Given the description of an element on the screen output the (x, y) to click on. 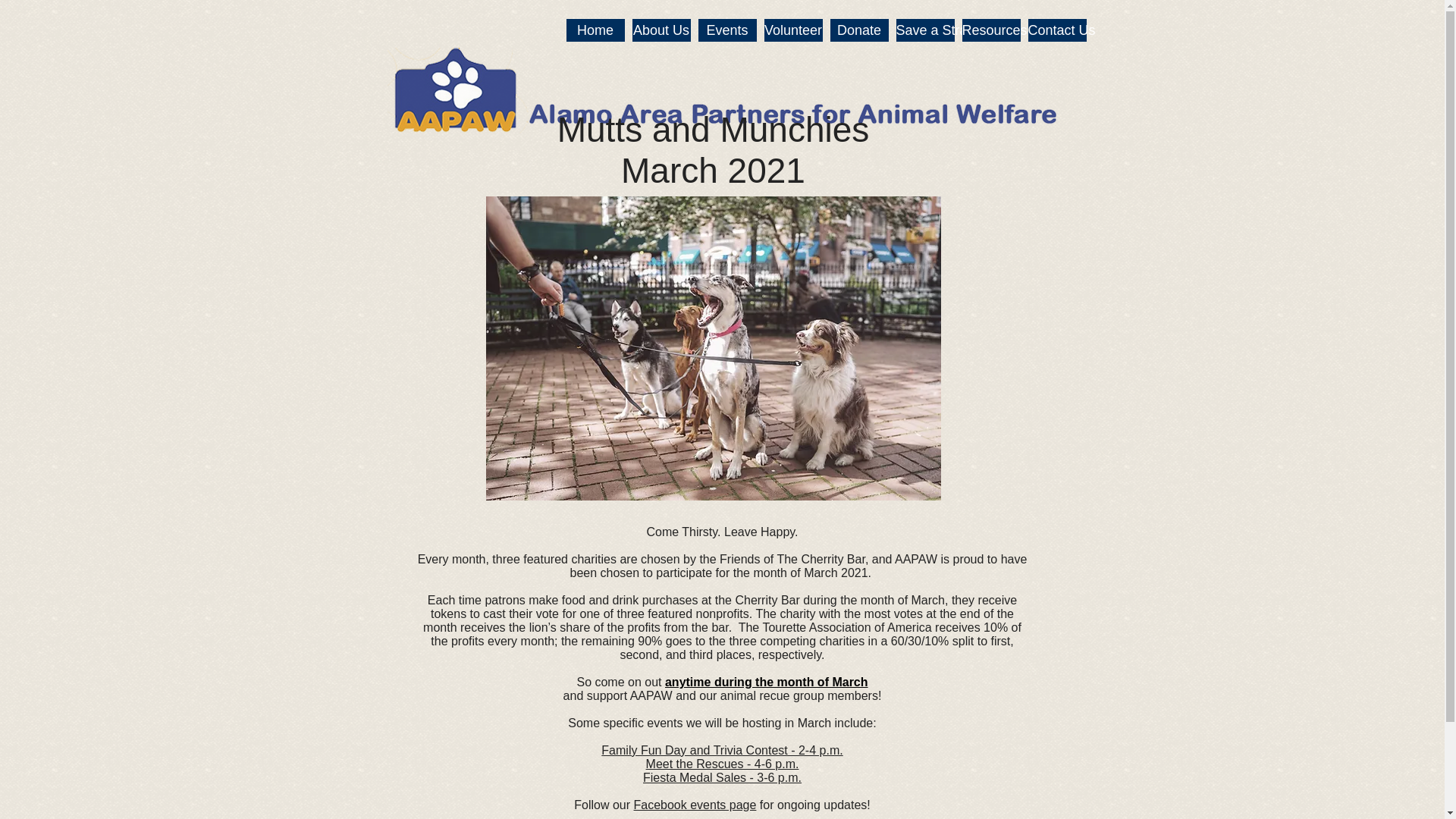
Volunteer (793, 29)
About Us (660, 29)
Events (726, 29)
Donate (858, 29)
Contact Us (1056, 29)
logo2.png (725, 91)
Save a Stray (925, 29)
Meet the Rescues - 4-6 p.m. (722, 763)
Resources (990, 29)
Family Fun Day and Trivia Contest - 2-4 p.m. (722, 749)
Facebook events page (695, 804)
Fiesta Medal Sales - 3-6 p.m. (722, 777)
Home (595, 29)
